Given the description of an element on the screen output the (x, y) to click on. 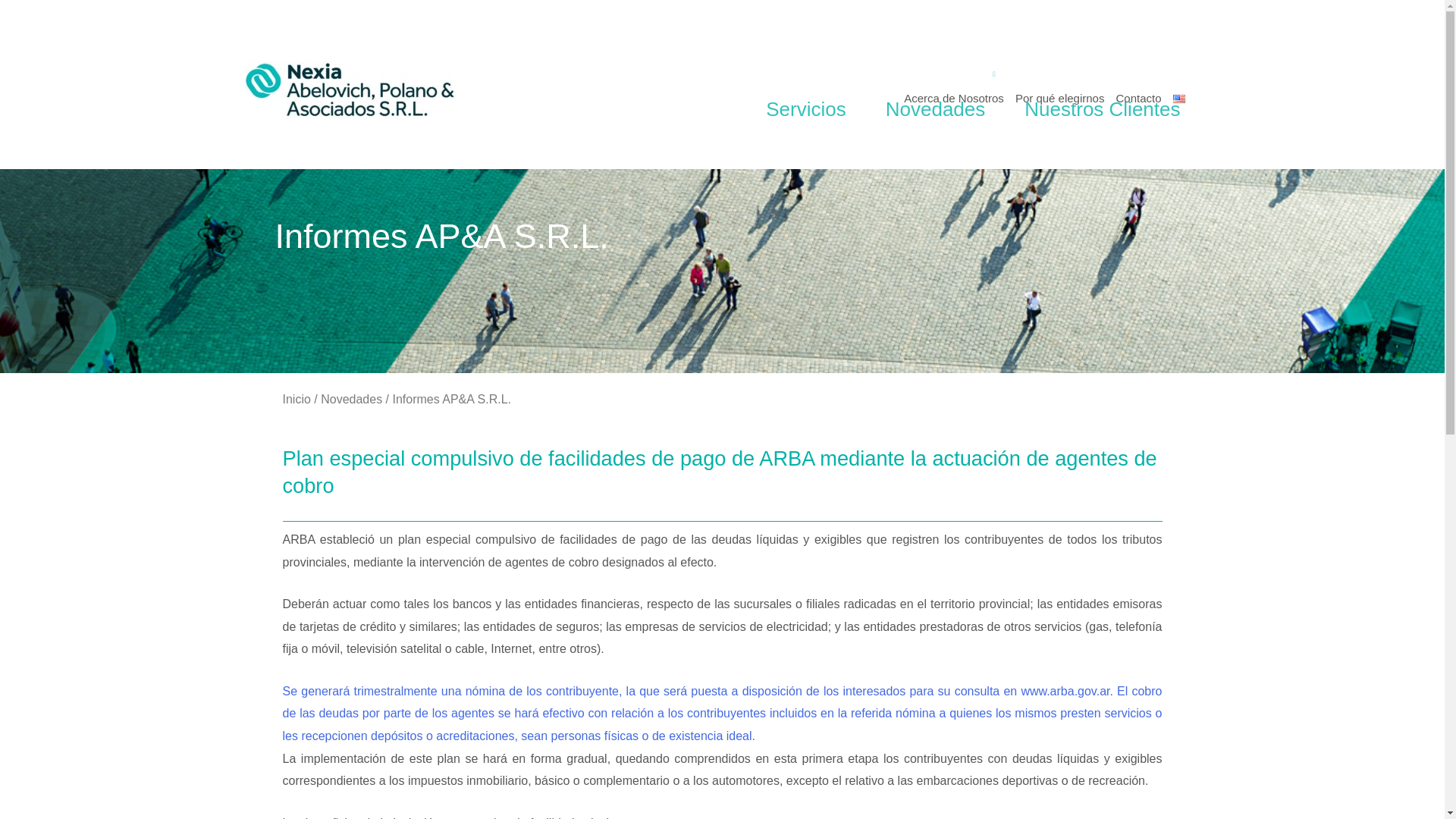
Contacto (1137, 97)
Nuestros Clientes (1101, 108)
Servicios (804, 108)
Novedades (936, 108)
Acerca de Nosotros (954, 97)
